Given the description of an element on the screen output the (x, y) to click on. 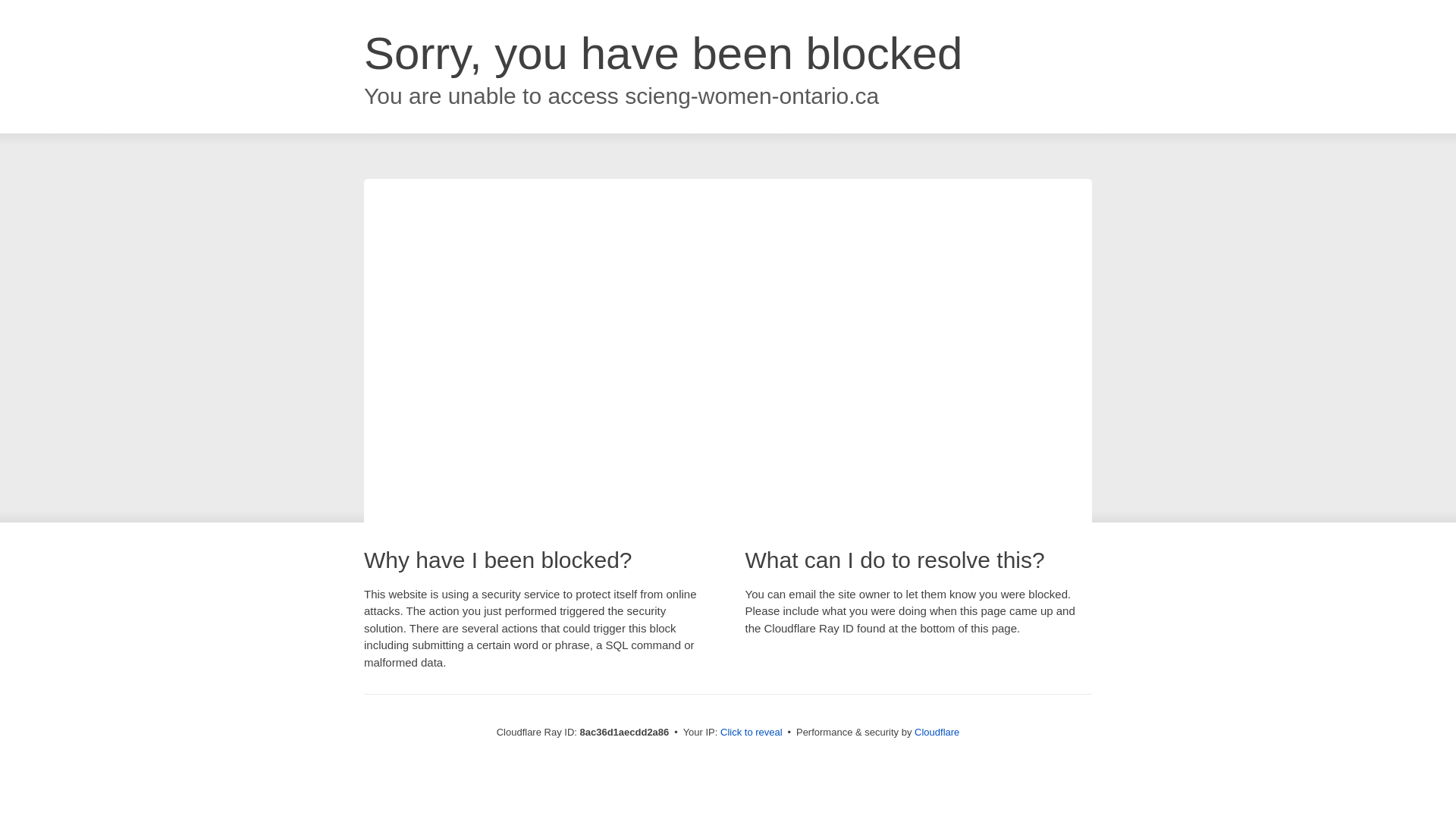
Cloudflare (936, 731)
Click to reveal (751, 732)
